Given the description of an element on the screen output the (x, y) to click on. 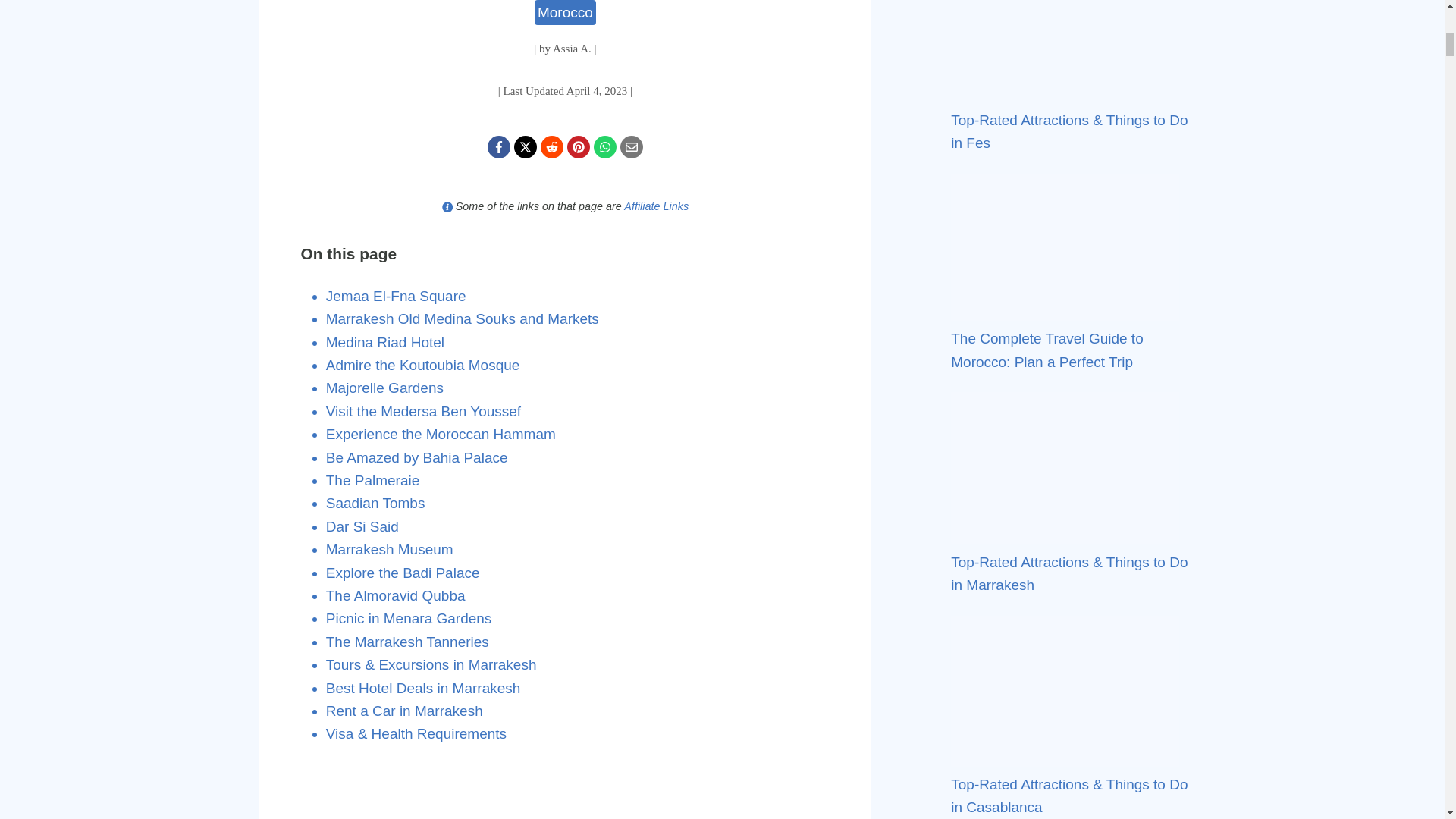
The Palmeraie (373, 480)
Jemaa El-Fna Square (395, 295)
Affiliate Links (656, 205)
Majorelle Gardens (385, 387)
Morocco (564, 12)
Visit the Medersa Ben Youssef (423, 411)
Medina Riad Hotel (385, 342)
Marrakesh Old Medina Souks and Markets (462, 318)
Marrakesh Museum (389, 549)
Admire the Koutoubia Mosque (422, 365)
Experience the Moroccan Hammam (441, 433)
Saadian Tombs (375, 503)
Be Amazed by Bahia Palace (417, 457)
Dar Si Said (362, 526)
